Given the description of an element on the screen output the (x, y) to click on. 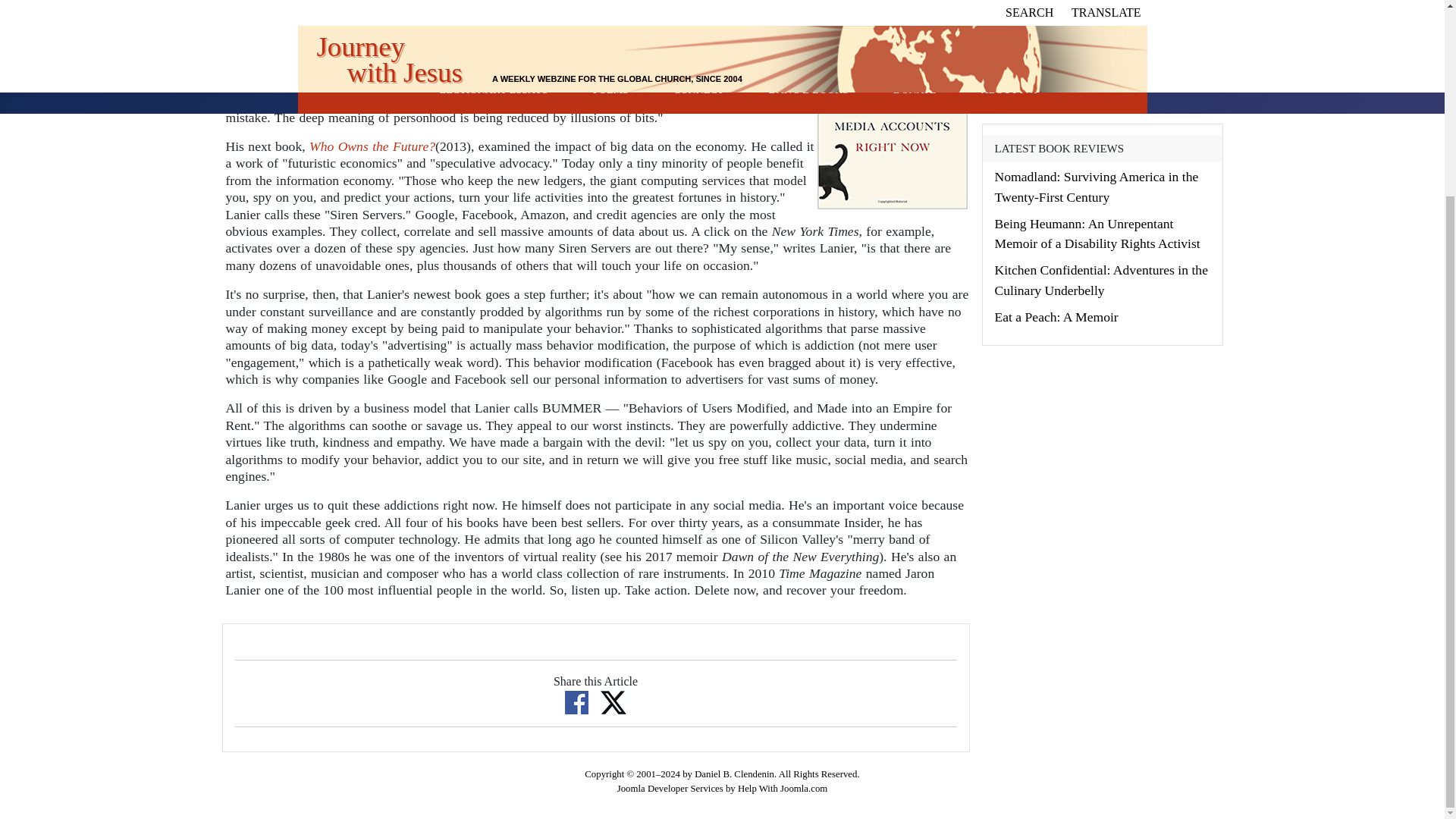
Book Review Index (1090, 33)
Who Owns the Future? (371, 145)
Kitchen Confidential: Adventures in the Culinary Underbelly (1101, 279)
Help With Joomla.com (782, 787)
Nomadland: Surviving America in the Twenty-First Century (1096, 185)
Eat a Peach: A Memoir (1056, 316)
Become a Patron! (1055, 84)
ou Are Not a Gadget (418, 32)
